Given the description of an element on the screen output the (x, y) to click on. 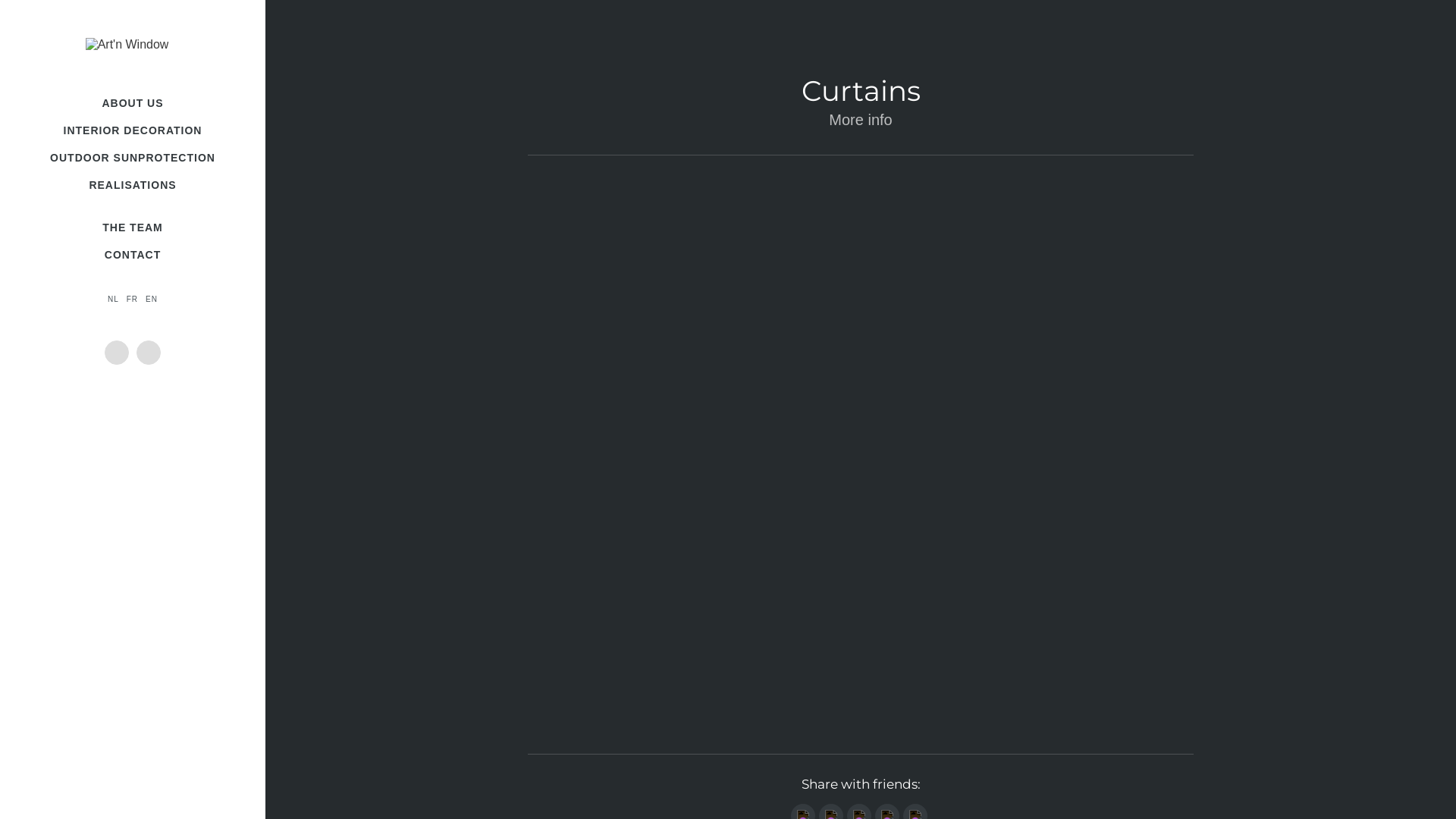
Art'n Window Facebook Element type: hover (116, 352)
OUTDOOR SUNPROTECTION Element type: text (132, 157)
CONTACT Element type: text (132, 254)
FR Element type: text (131, 299)
Art'n Window Instagram Element type: hover (148, 352)
EN Element type: text (151, 299)
INTERIOR DECORATION Element type: text (132, 130)
Art'n Window Element type: hover (132, 55)
NL Element type: text (112, 299)
REALISATIONS Element type: text (132, 184)
THE TEAM Element type: text (132, 227)
ABOUT US Element type: text (132, 102)
